Given the description of an element on the screen output the (x, y) to click on. 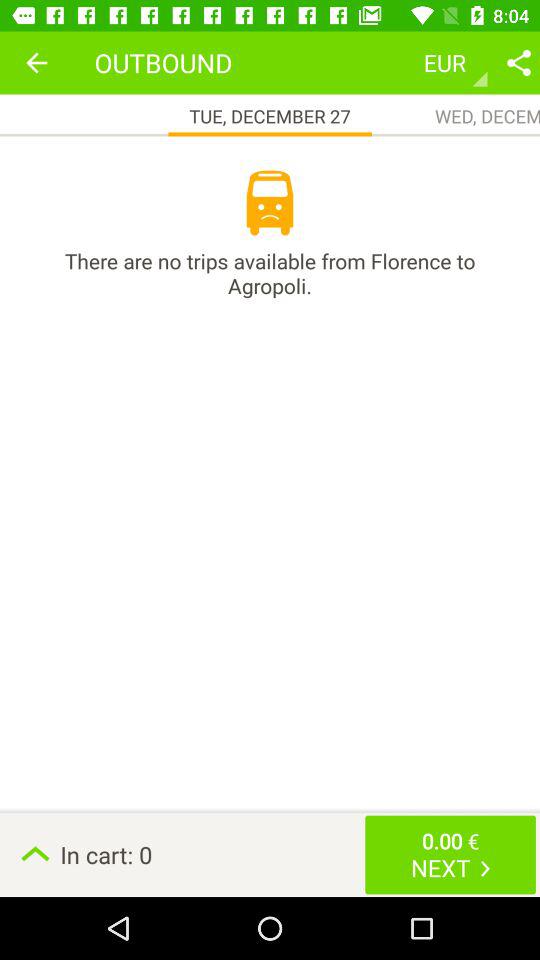
choose item below tue, december 27 app (270, 203)
